Given the description of an element on the screen output the (x, y) to click on. 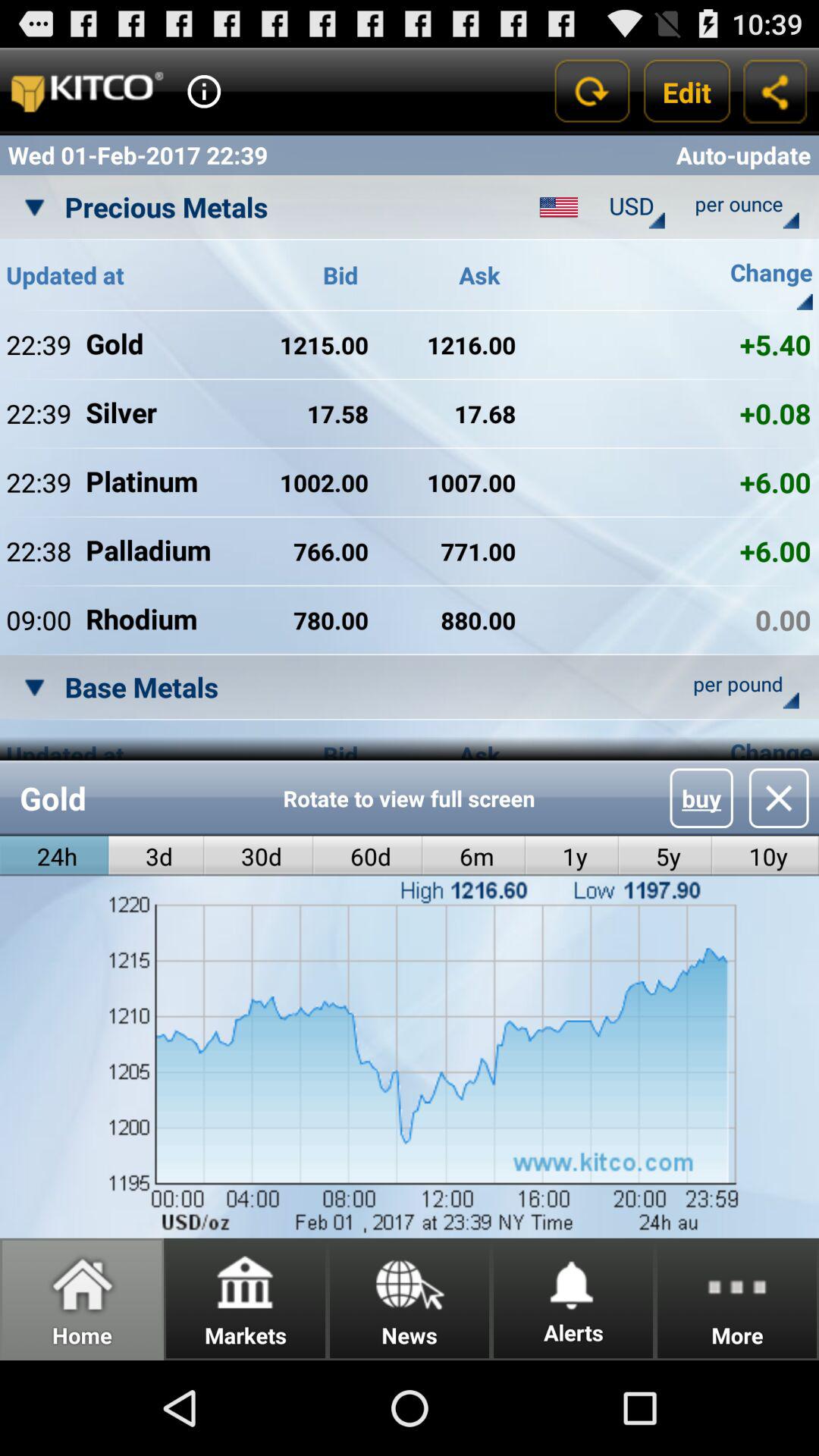
share this page (775, 91)
